Given the description of an element on the screen output the (x, y) to click on. 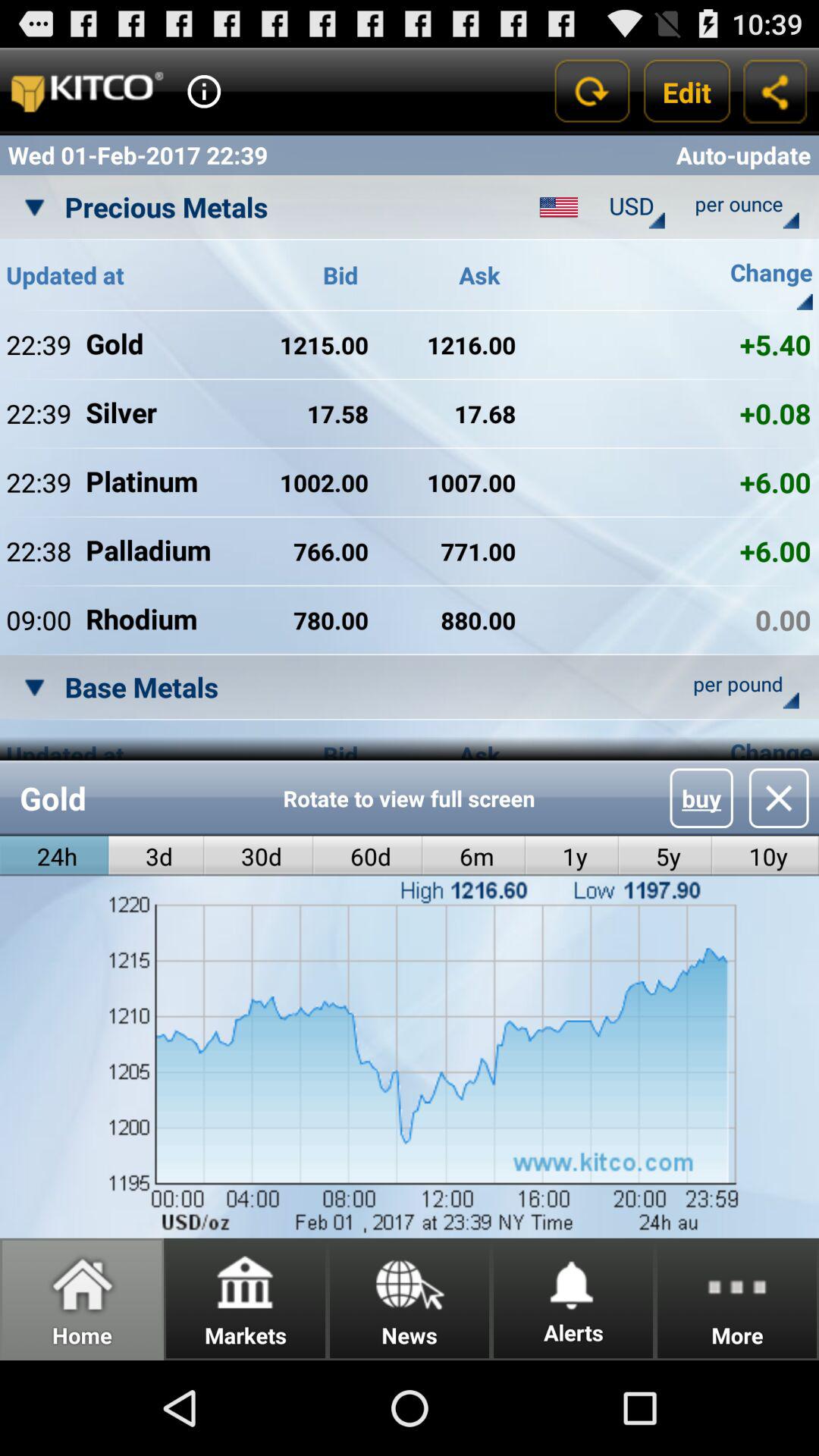
share this page (775, 91)
